Given the description of an element on the screen output the (x, y) to click on. 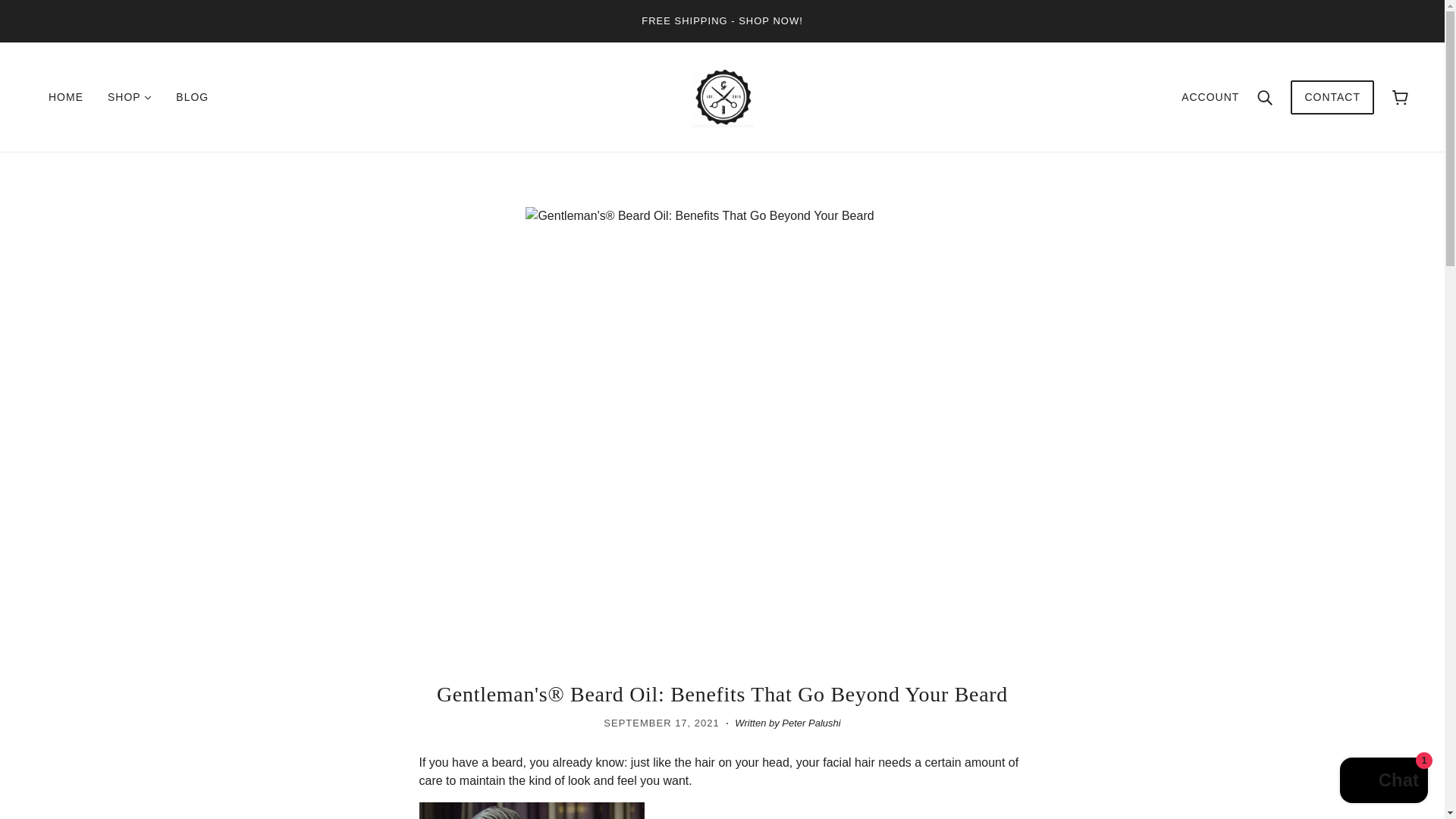
ACCOUNT (1209, 96)
HOME (66, 96)
Shopify online store chat (1383, 781)
SHOP (129, 96)
CONTACT (1332, 104)
BLOG (192, 96)
